Given the description of an element on the screen output the (x, y) to click on. 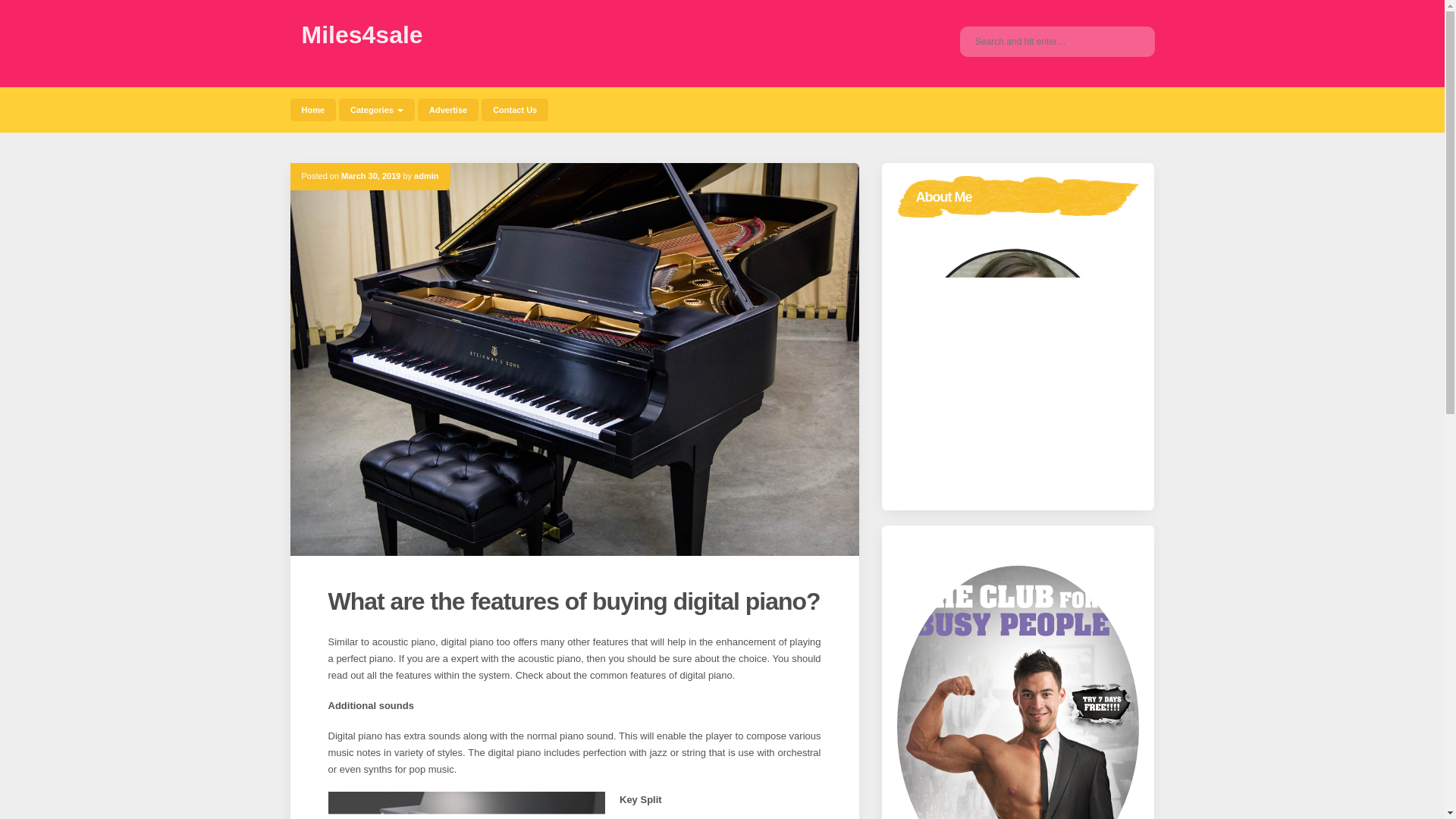
Home (312, 109)
Contact Us (514, 109)
Miles4sale (362, 34)
Search (1131, 41)
March 30, 2019 (370, 175)
Advertise (448, 109)
Advertise (448, 109)
Search (1131, 41)
Contact Us (514, 109)
Categories (376, 109)
